Given the description of an element on the screen output the (x, y) to click on. 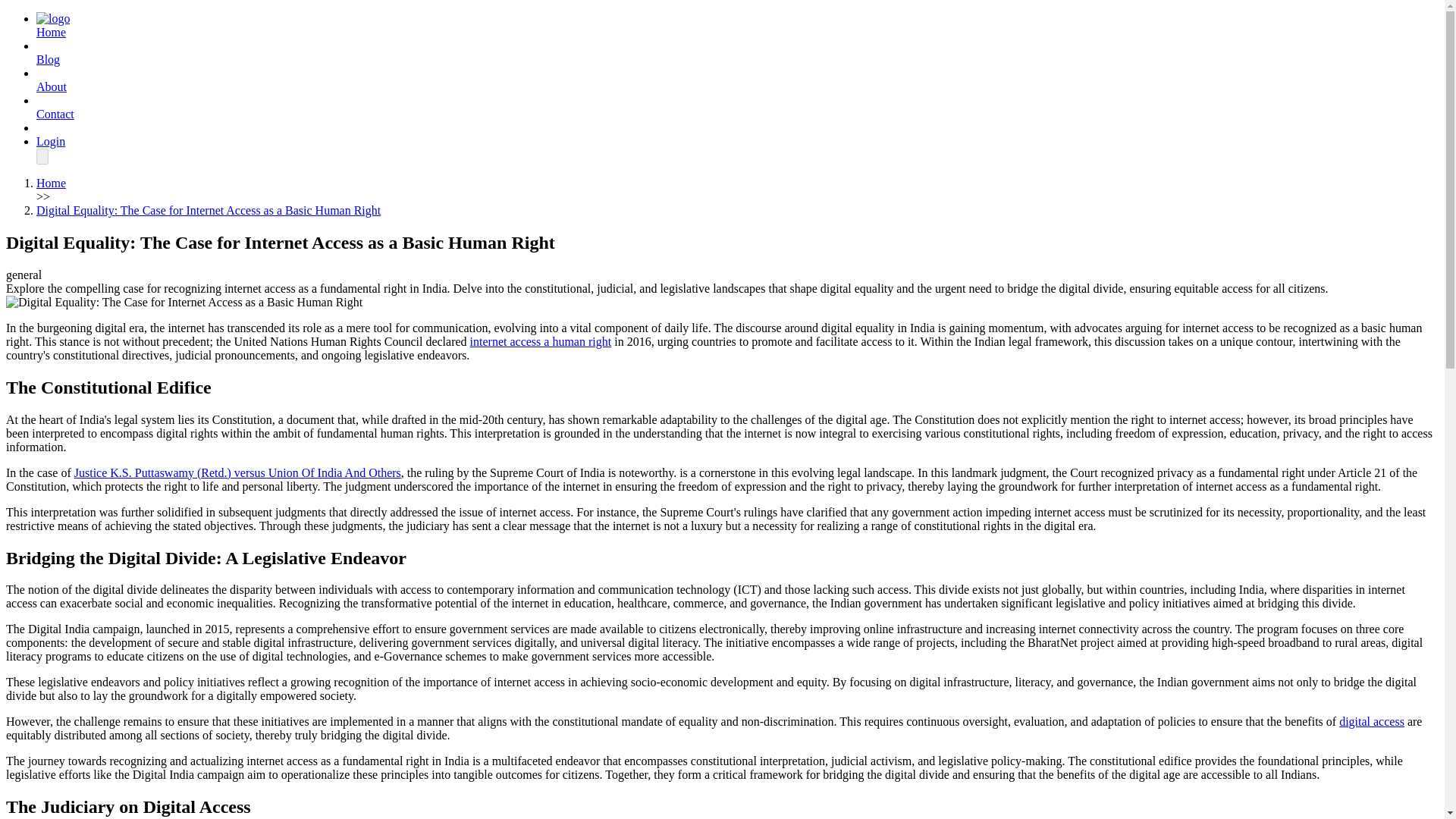
Blog (47, 59)
Home (50, 182)
Open menu (42, 156)
Login (50, 141)
internet access a human right (540, 341)
About (51, 86)
digital access (1372, 721)
Contact (55, 113)
Home (50, 31)
Home (52, 18)
